Given the description of an element on the screen output the (x, y) to click on. 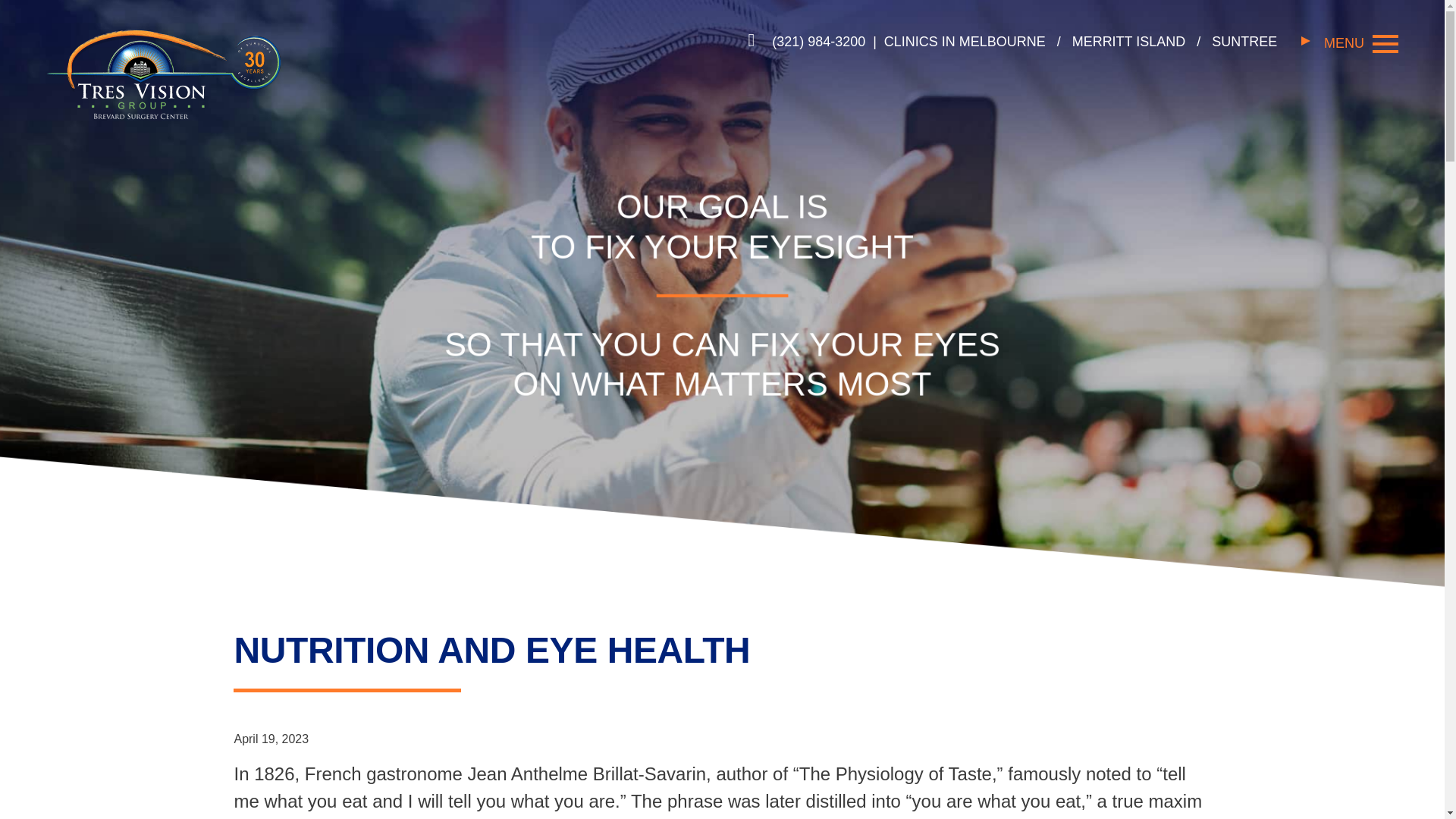
Tres Vision Group (163, 72)
MERRITT ISLAND (1130, 41)
SUNTREE (1243, 41)
MELBOURNE (1004, 41)
